Given the description of an element on the screen output the (x, y) to click on. 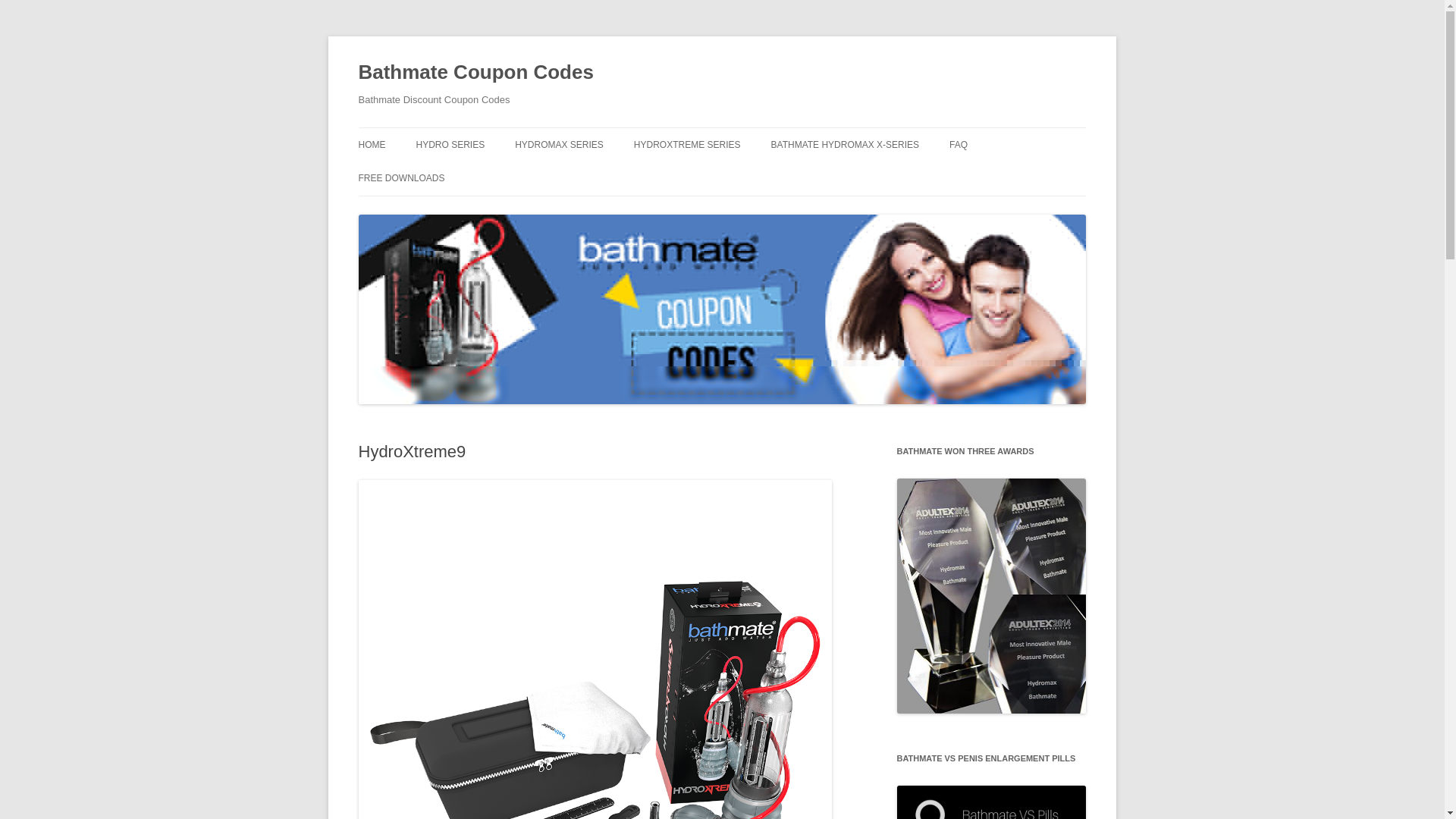
FREE DOWNLOADS (401, 177)
HYDROXTREME SERIES (687, 144)
HYDROMAX SERIES (559, 144)
HYDRO SERIES (449, 144)
Bathmate Coupon Codes (475, 72)
Bathmate VS Pills (991, 802)
BATHMATE HYDROMAX X-SERIES (845, 144)
